Given the description of an element on the screen output the (x, y) to click on. 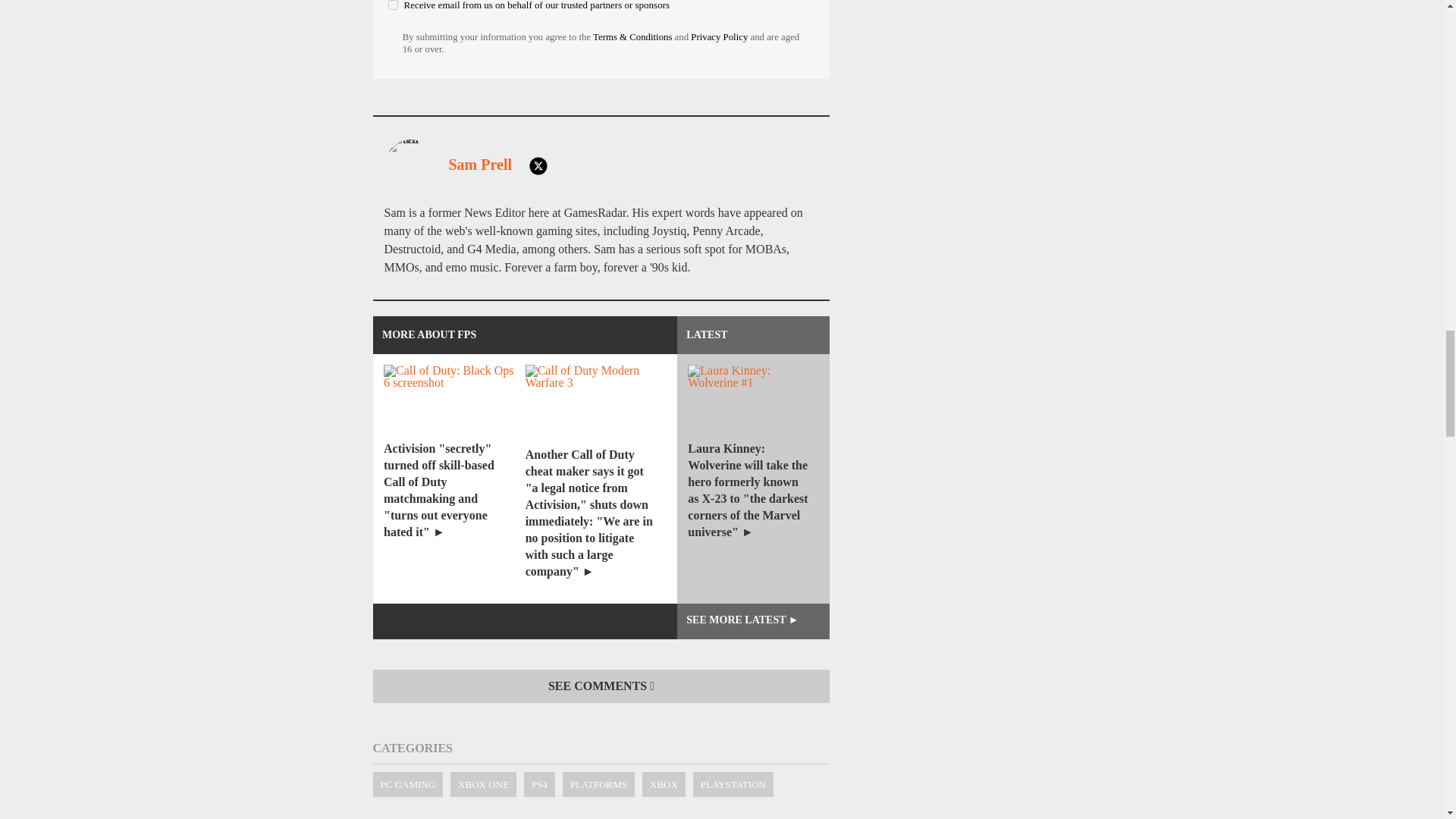
on (392, 4)
